Given the description of an element on the screen output the (x, y) to click on. 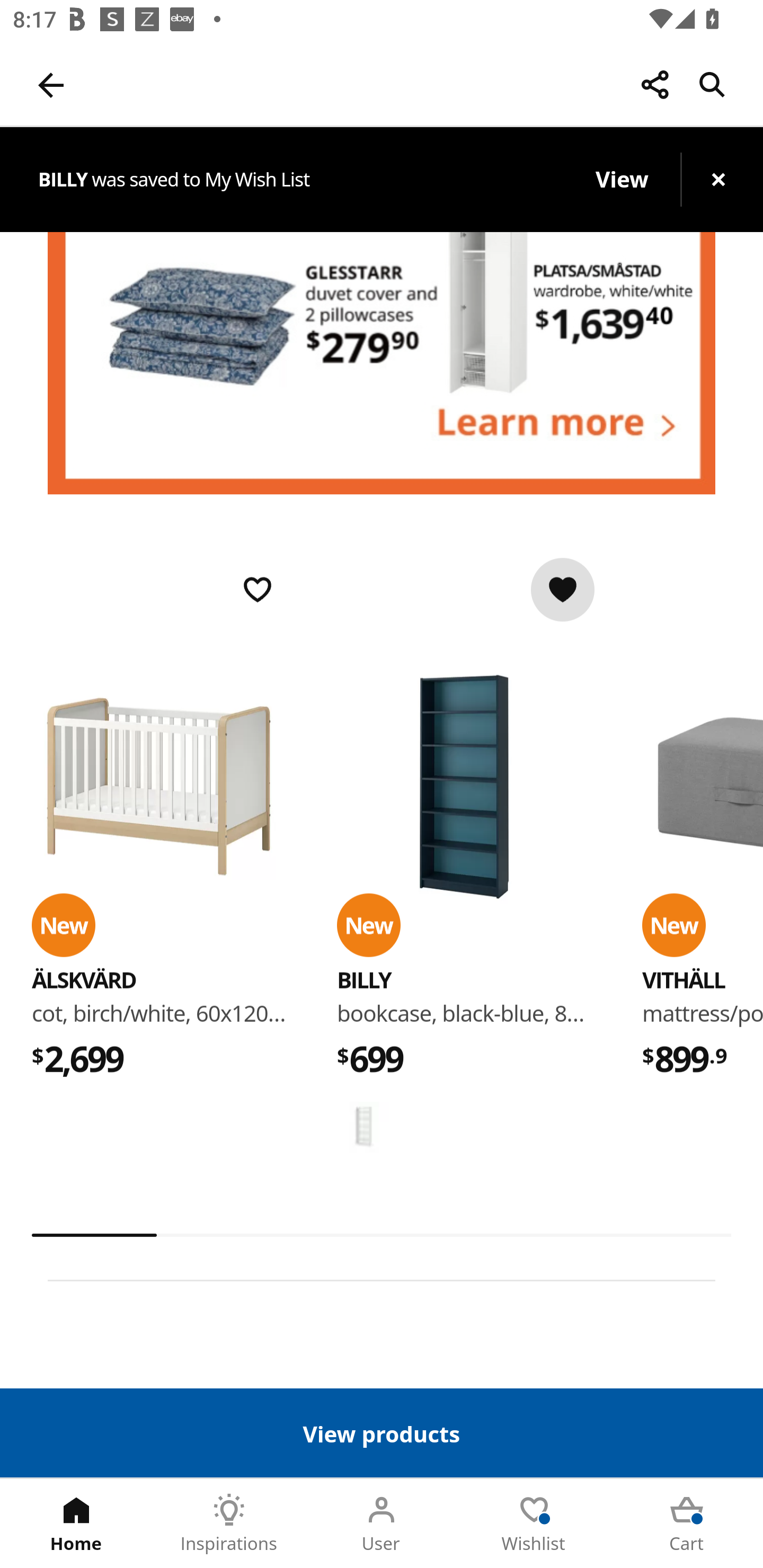
newitems#shop-now (381, 311)
View (621, 180)
ÄLSKVÄRD (159, 787)
BILLY (464, 787)
ÄLSKVÄRD (84, 979)
BILLY (363, 979)
VITHÄLL (683, 979)
BILLY (363, 1127)
0.0 (381, 1235)
View products (381, 1432)
Home
Tab 1 of 5 (76, 1522)
Inspirations
Tab 2 of 5 (228, 1522)
User
Tab 3 of 5 (381, 1522)
Wishlist
Tab 4 of 5 (533, 1522)
Cart
Tab 5 of 5 (686, 1522)
